Given the description of an element on the screen output the (x, y) to click on. 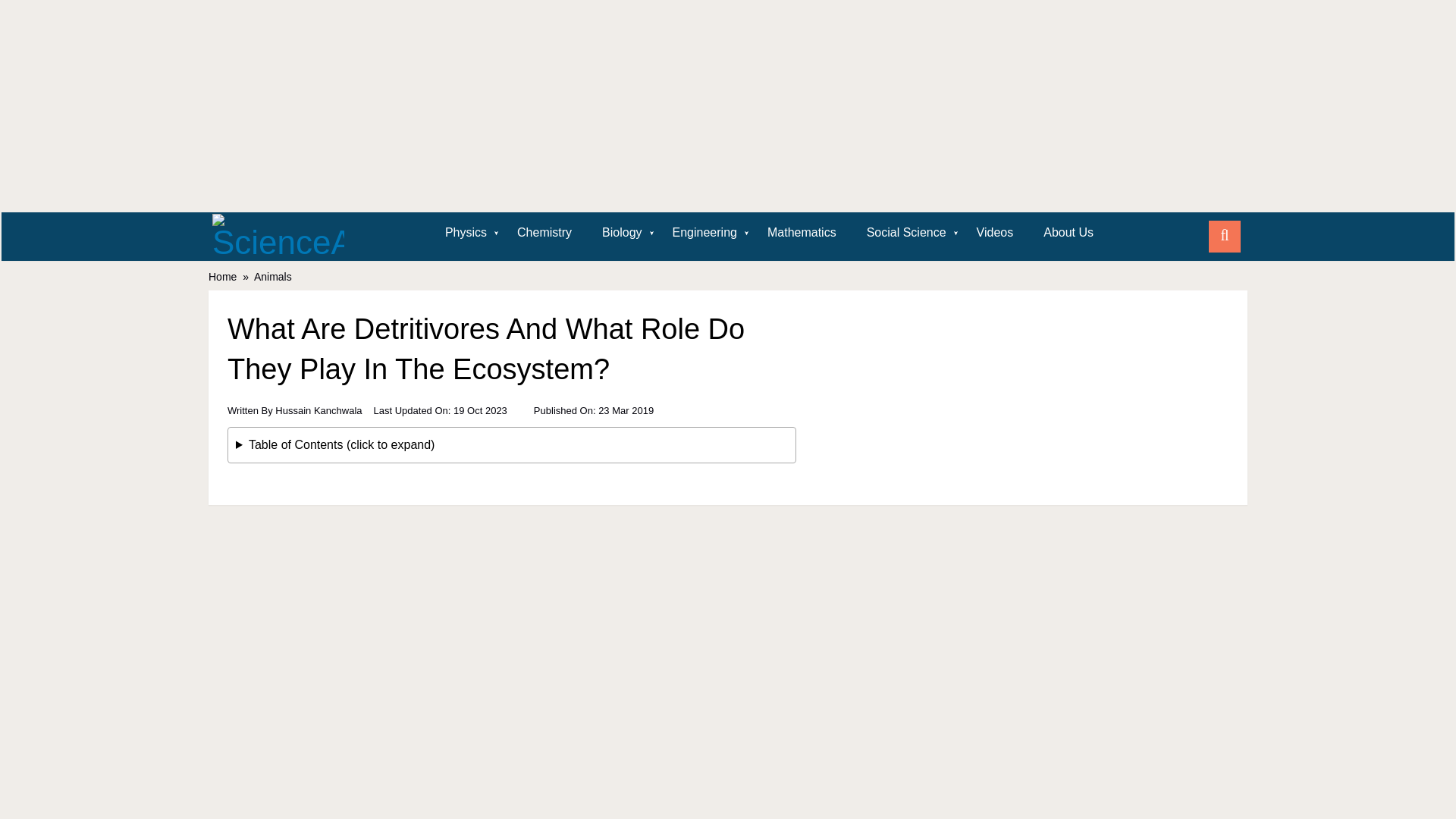
Videos (994, 232)
Physics (465, 232)
About Us (1067, 232)
Chemistry (544, 232)
Mathematics (801, 232)
Social Science (905, 232)
Biology (621, 232)
Engineering (705, 232)
